Given the description of an element on the screen output the (x, y) to click on. 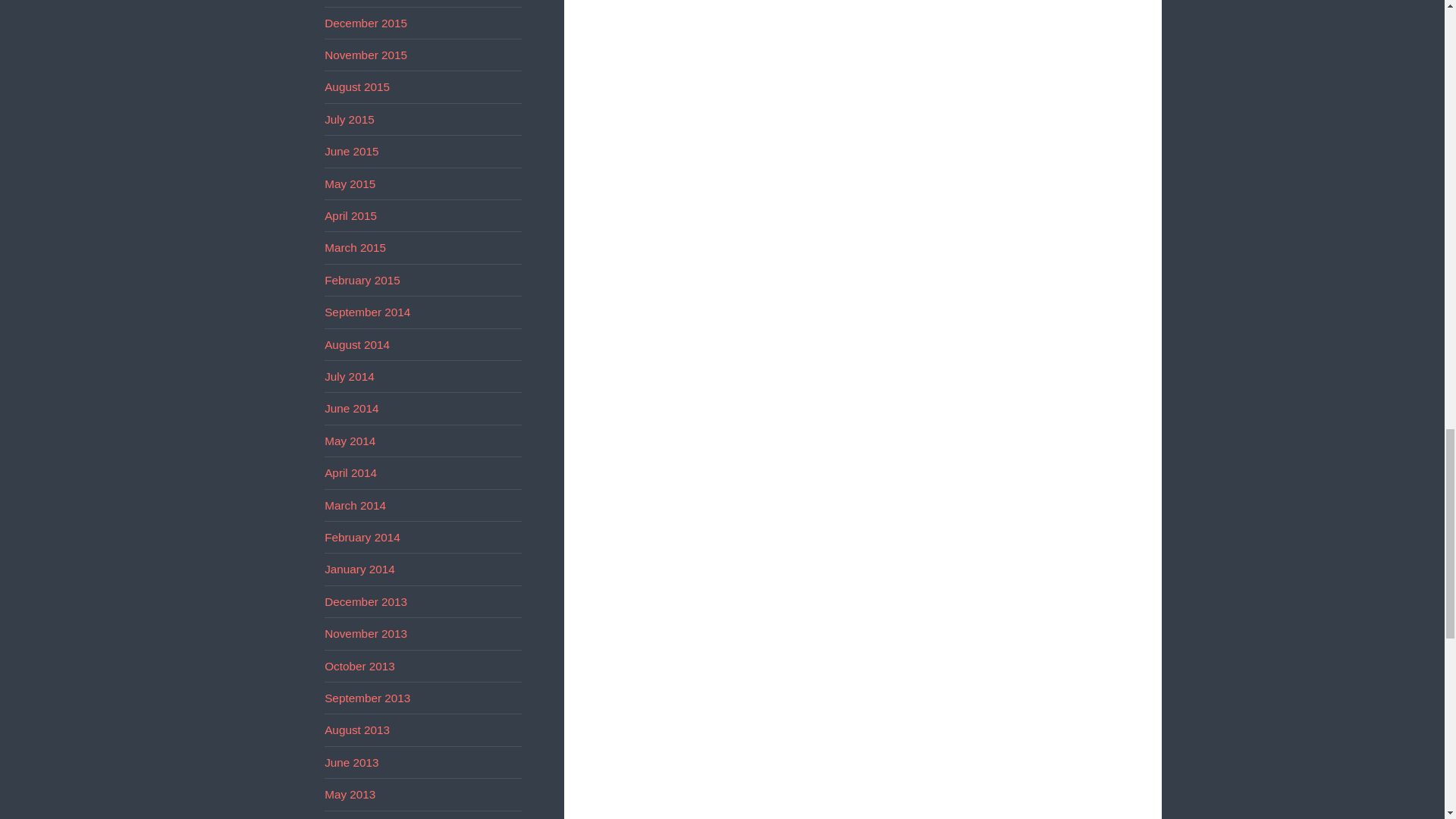
July 2015 (349, 119)
April 2015 (350, 215)
May 2015 (349, 183)
March 2015 (354, 246)
November 2015 (365, 54)
December 2015 (365, 22)
June 2015 (351, 151)
August 2015 (357, 86)
